Given the description of an element on the screen output the (x, y) to click on. 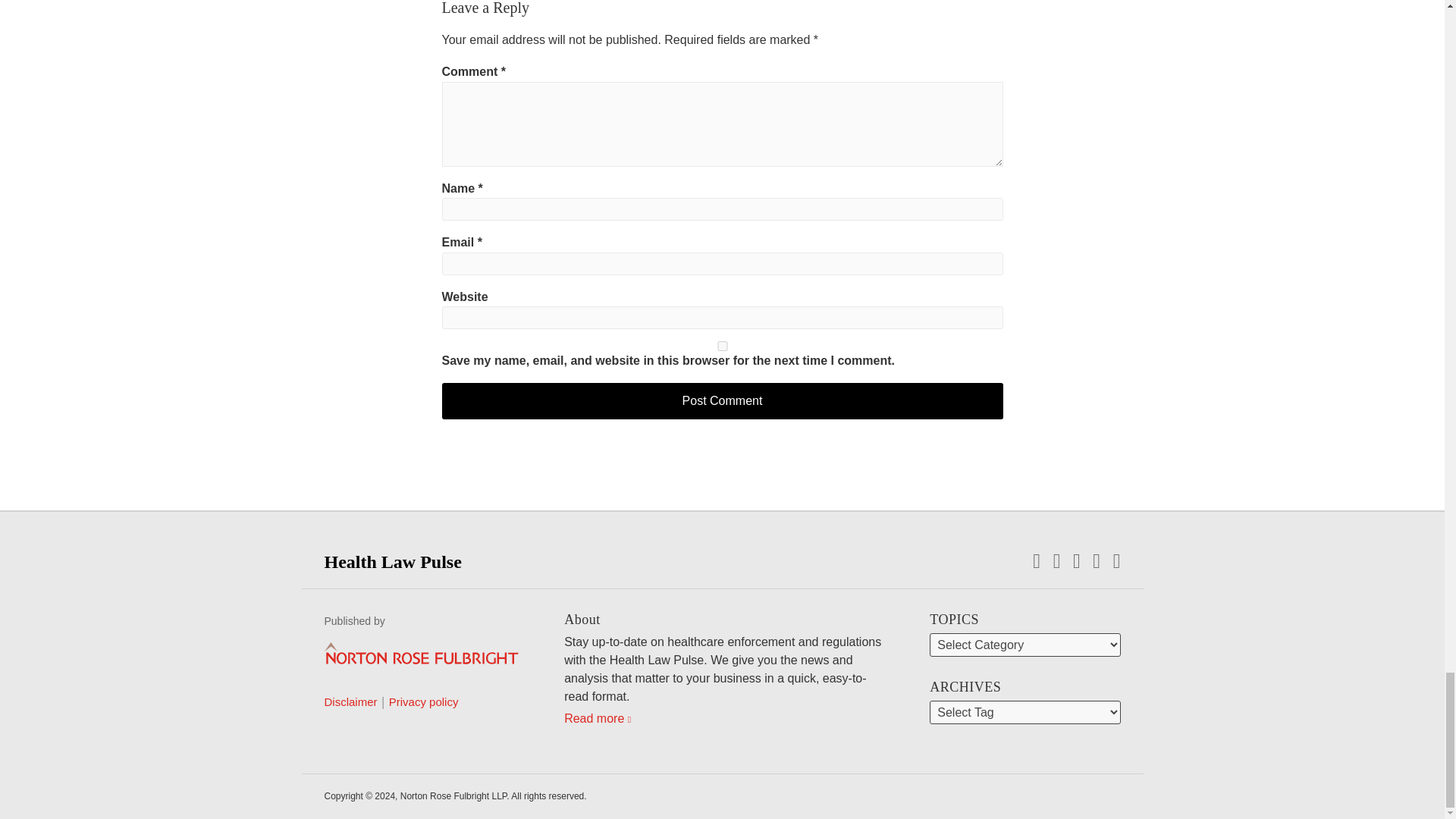
yes (722, 346)
Post Comment (722, 401)
Health Law Pulse (392, 561)
Post Comment (722, 401)
